Given the description of an element on the screen output the (x, y) to click on. 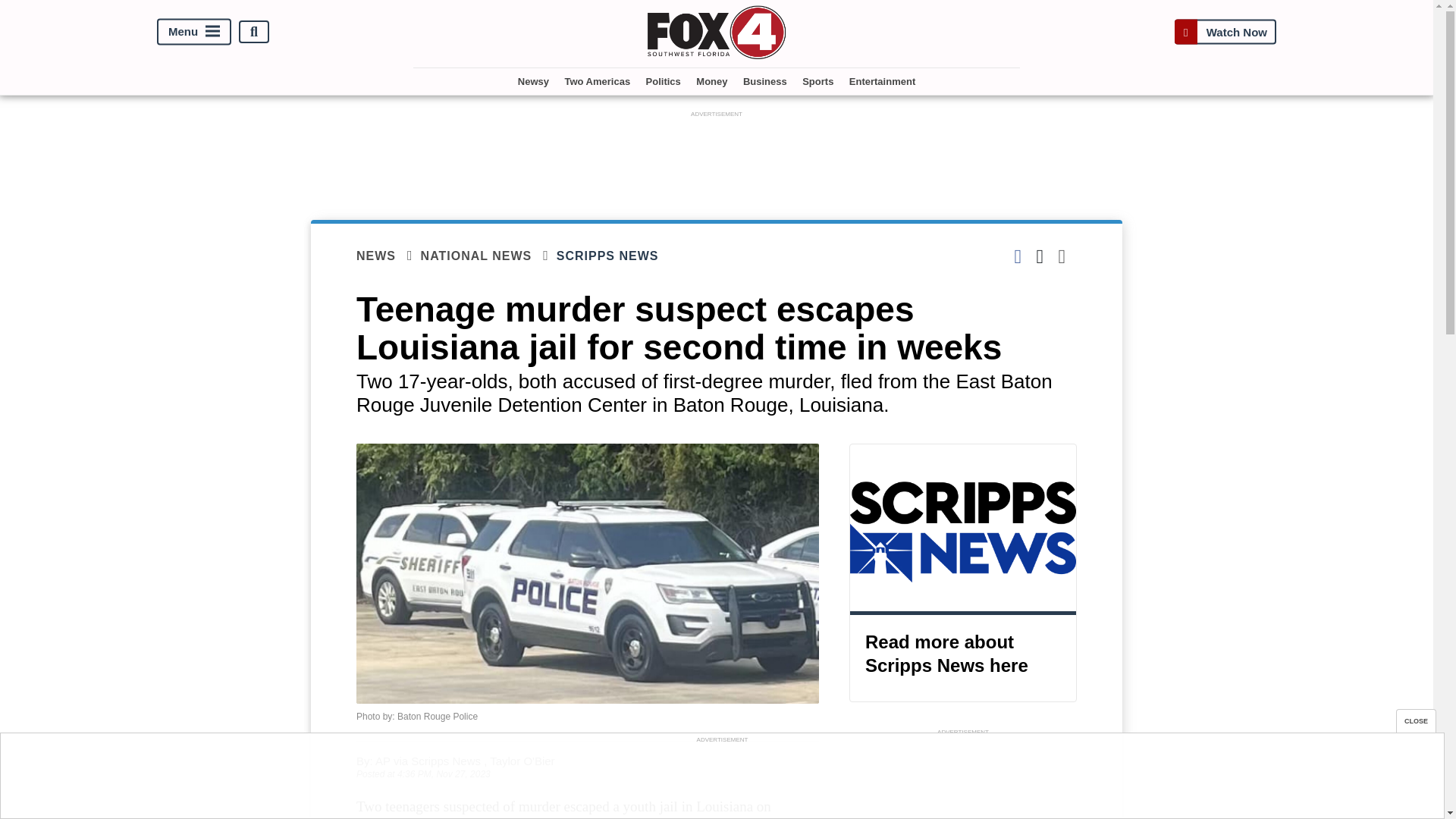
3rd party ad content (716, 155)
3rd party ad content (721, 780)
3rd party ad content (962, 779)
Menu (194, 31)
Watch Now (1224, 31)
